Given the description of an element on the screen output the (x, y) to click on. 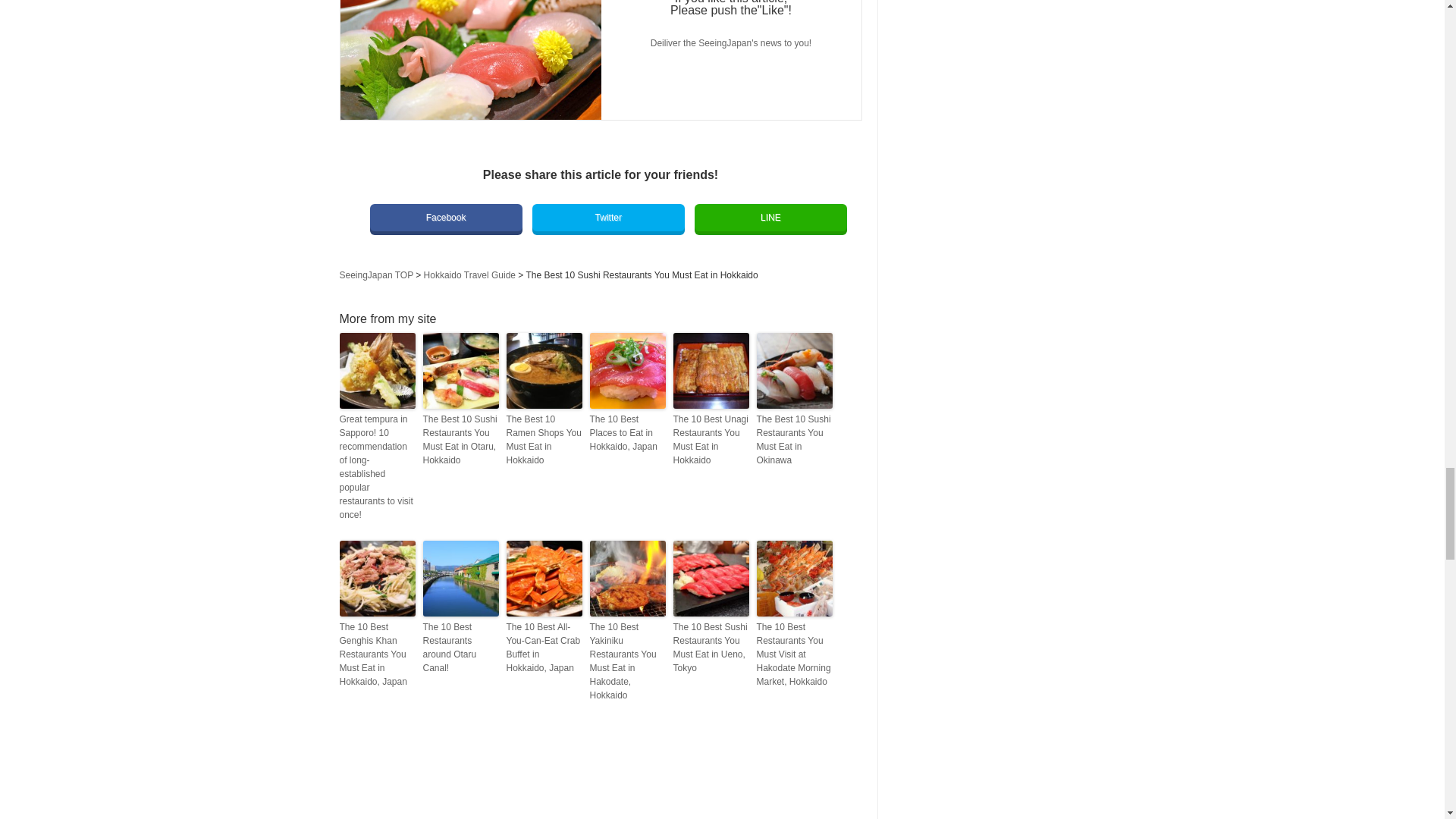
Facebook (445, 216)
Twitter (608, 216)
SeeingJapan TOP (376, 275)
Hokkaido Travel Guide (469, 275)
LINE (770, 216)
